Given the description of an element on the screen output the (x, y) to click on. 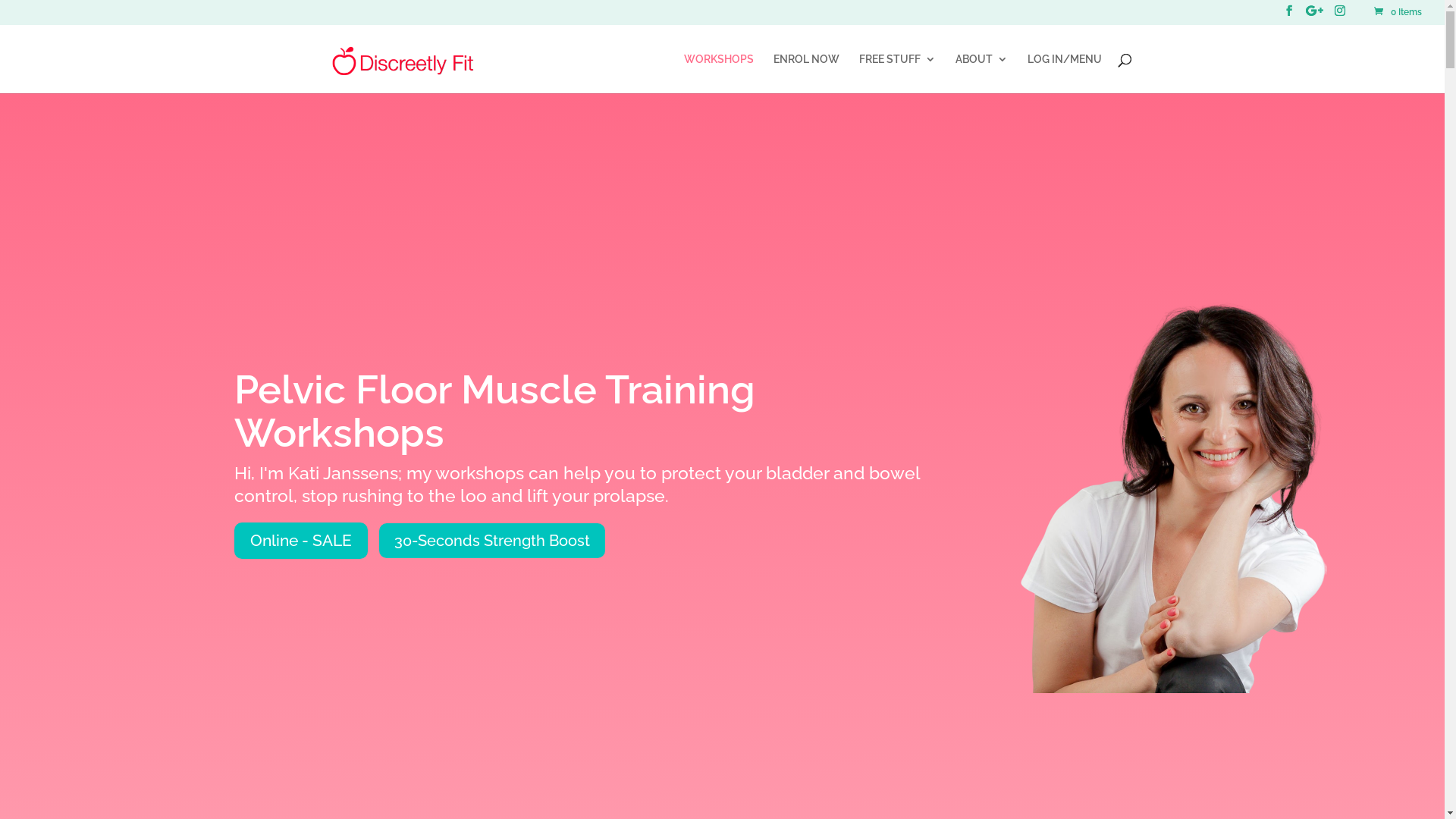
ENROL NOW Element type: text (806, 72)
0 Items Element type: text (1396, 11)
FREE STUFF Element type: text (896, 72)
30-Seconds Strength Boost Element type: text (492, 540)
WORKSHOPS Element type: text (718, 72)
LOG IN/MENU Element type: text (1063, 72)
Online - SALE Element type: text (300, 540)
ABOUT Element type: text (981, 72)
